Given the description of an element on the screen output the (x, y) to click on. 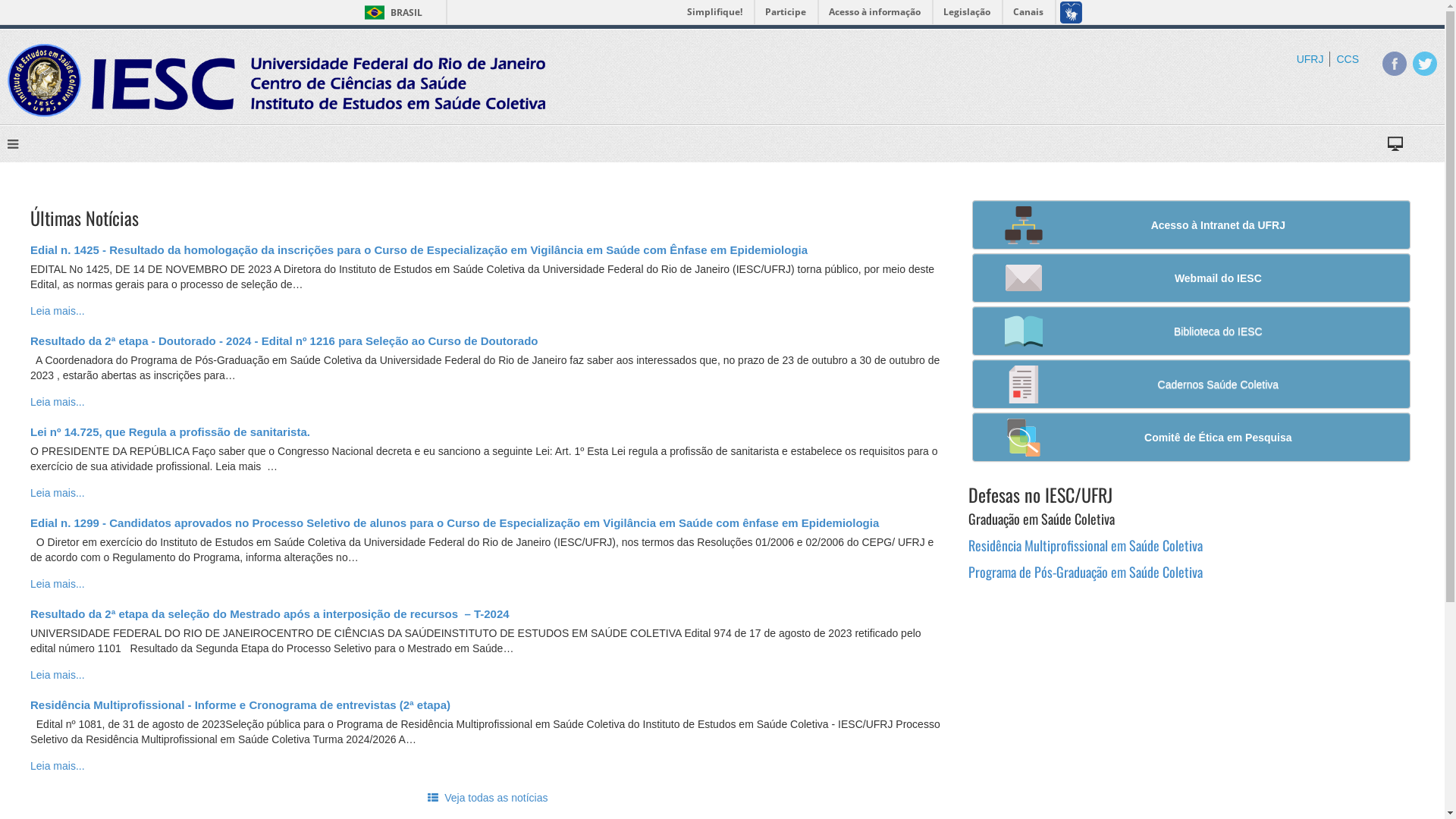
CCS Element type: text (1347, 58)
Twitter Element type: text (1424, 63)
Leia mais... Element type: text (57, 492)
Leia mais... Element type: text (57, 583)
Leia mais... Element type: text (57, 401)
Leia mais... Element type: text (57, 674)
Leia mais... Element type: text (57, 765)
Biblioteca do IESC Element type: text (1191, 330)
Facebook Element type: text (1394, 63)
Leia mais... Element type: text (57, 310)
Webmail do IESC Element type: text (1191, 277)
BRASIL Element type: text (389, 12)
UFRJ Element type: text (1310, 58)
